Given the description of an element on the screen output the (x, y) to click on. 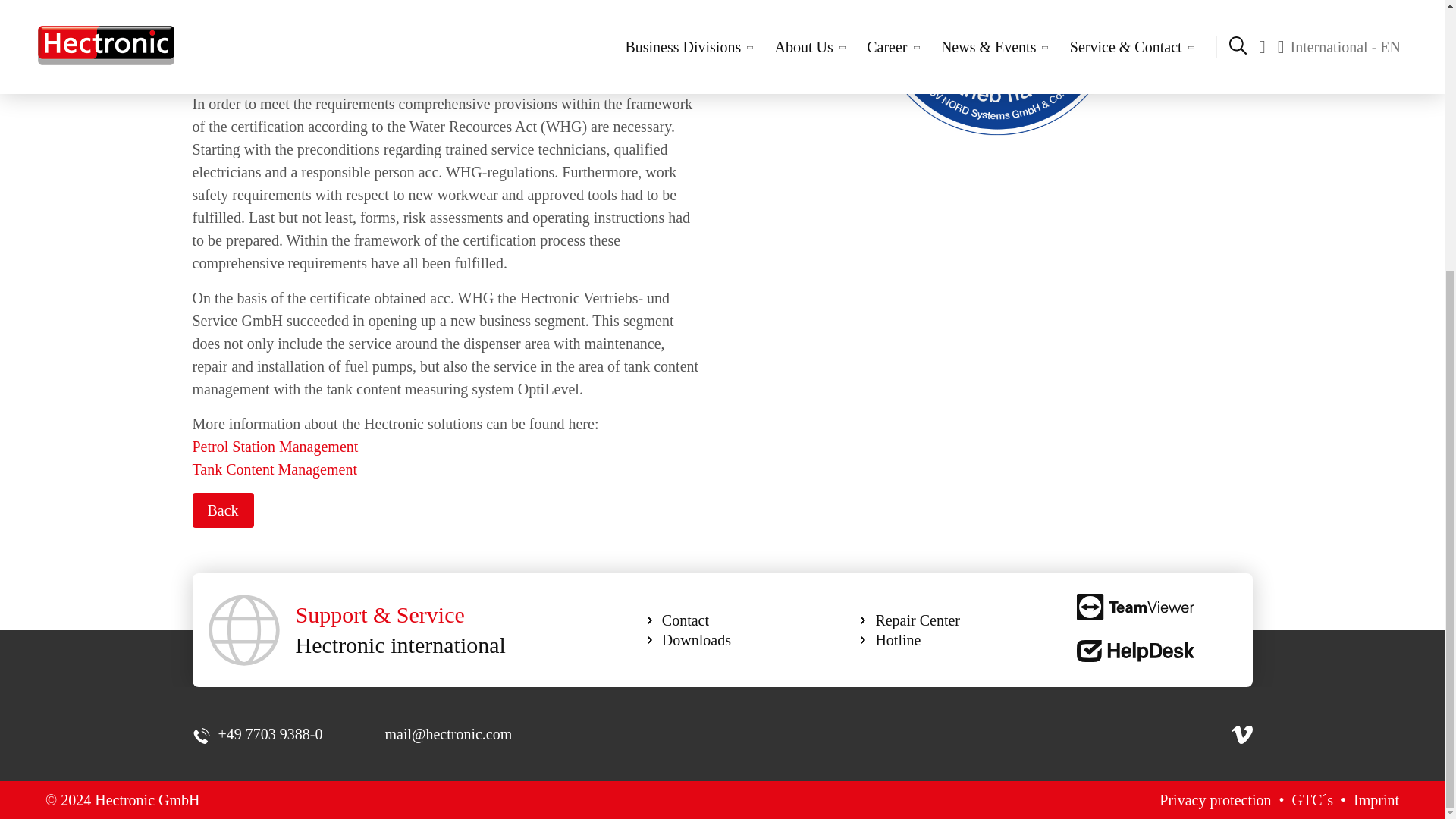
Hectronic HelpDesk (1135, 650)
Hectronic TeamViewer (1135, 606)
